Given the description of an element on the screen output the (x, y) to click on. 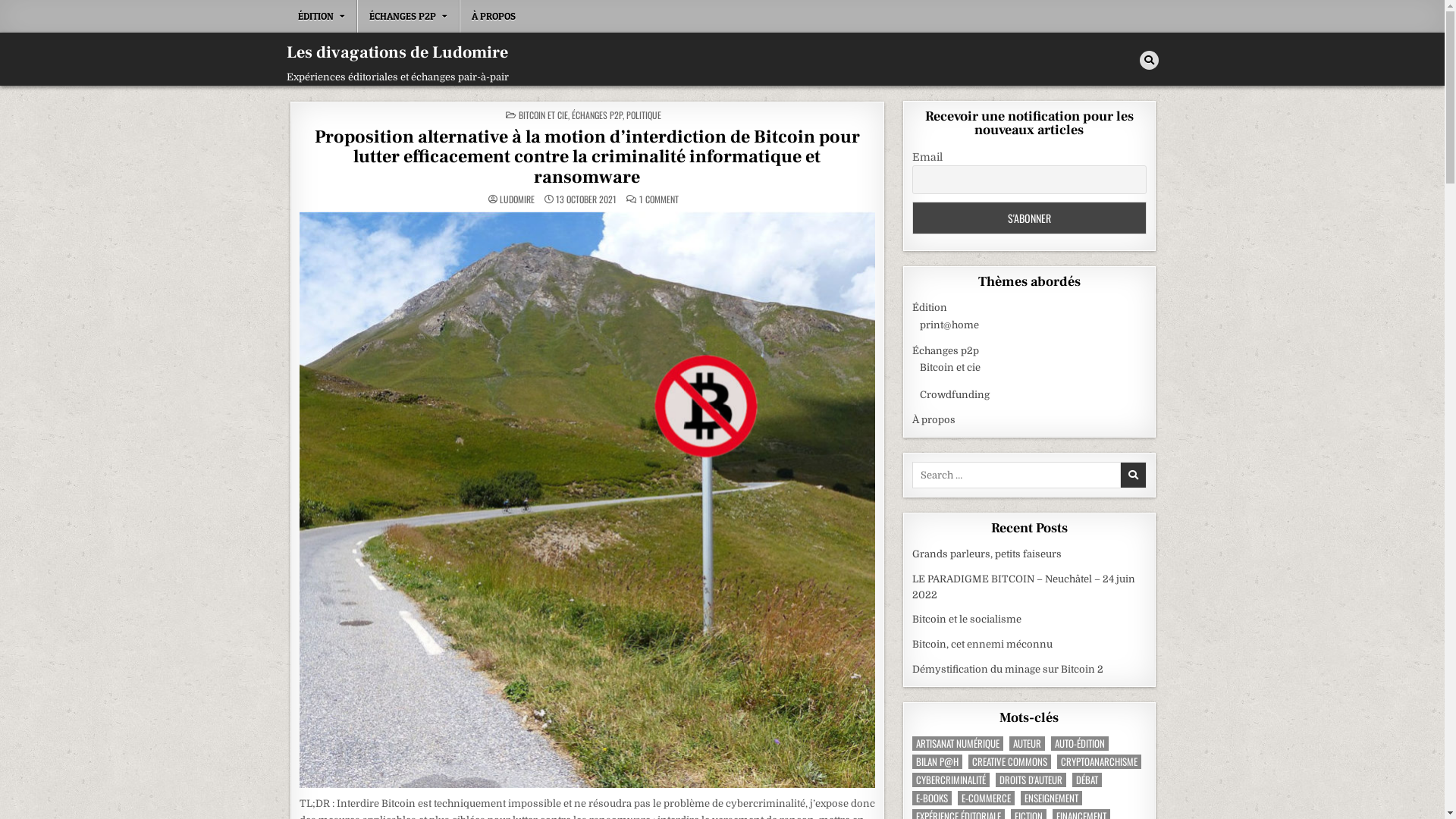
E-COMMERCE Element type: text (985, 797)
CREATIVE COMMONS Element type: text (1009, 761)
E-BOOKS Element type: text (931, 797)
S'abonner Element type: text (1029, 217)
Grands parleurs, petits faiseurs Element type: text (986, 553)
Les divagations de Ludomire Element type: text (397, 51)
AUTEUR Element type: text (1026, 743)
CRYPTOANARCHISME Element type: text (1099, 761)
ENSEIGNEMENT Element type: text (1051, 797)
LUDOMIRE Element type: text (516, 198)
Bitcoin et cie Element type: text (949, 367)
Search Element type: hover (1148, 60)
DROITS D'AUTEUR Element type: text (1030, 779)
print@home Element type: text (949, 324)
POLITIQUE Element type: text (643, 114)
BILAN P@H Element type: text (937, 761)
BITCOIN ET CIE Element type: text (542, 114)
Bitcoin et le socialisme Element type: text (966, 618)
Crowdfunding Element type: text (954, 394)
